Given the description of an element on the screen output the (x, y) to click on. 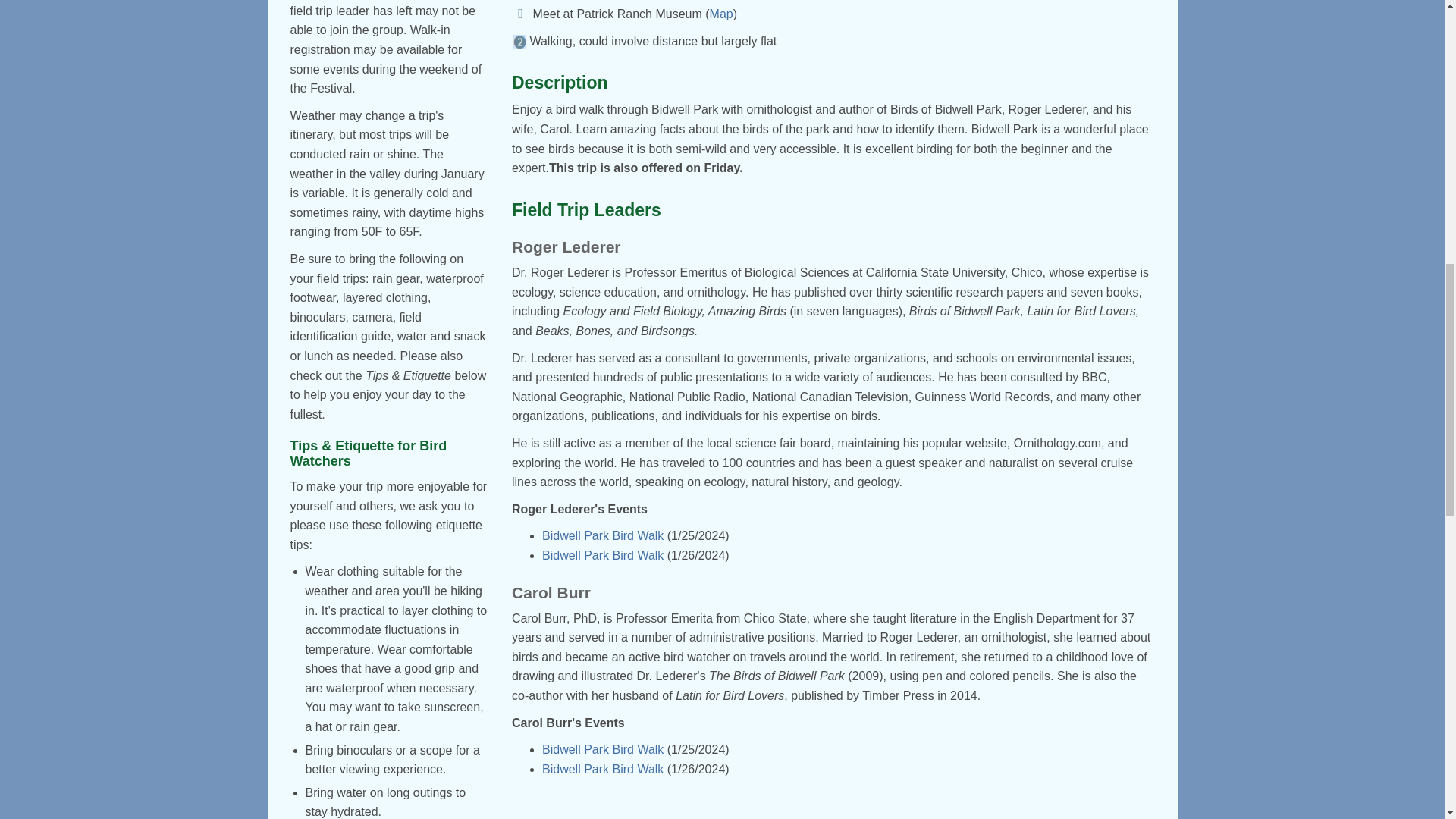
Walking, could involve distance but largely flat (518, 42)
